Given the description of an element on the screen output the (x, y) to click on. 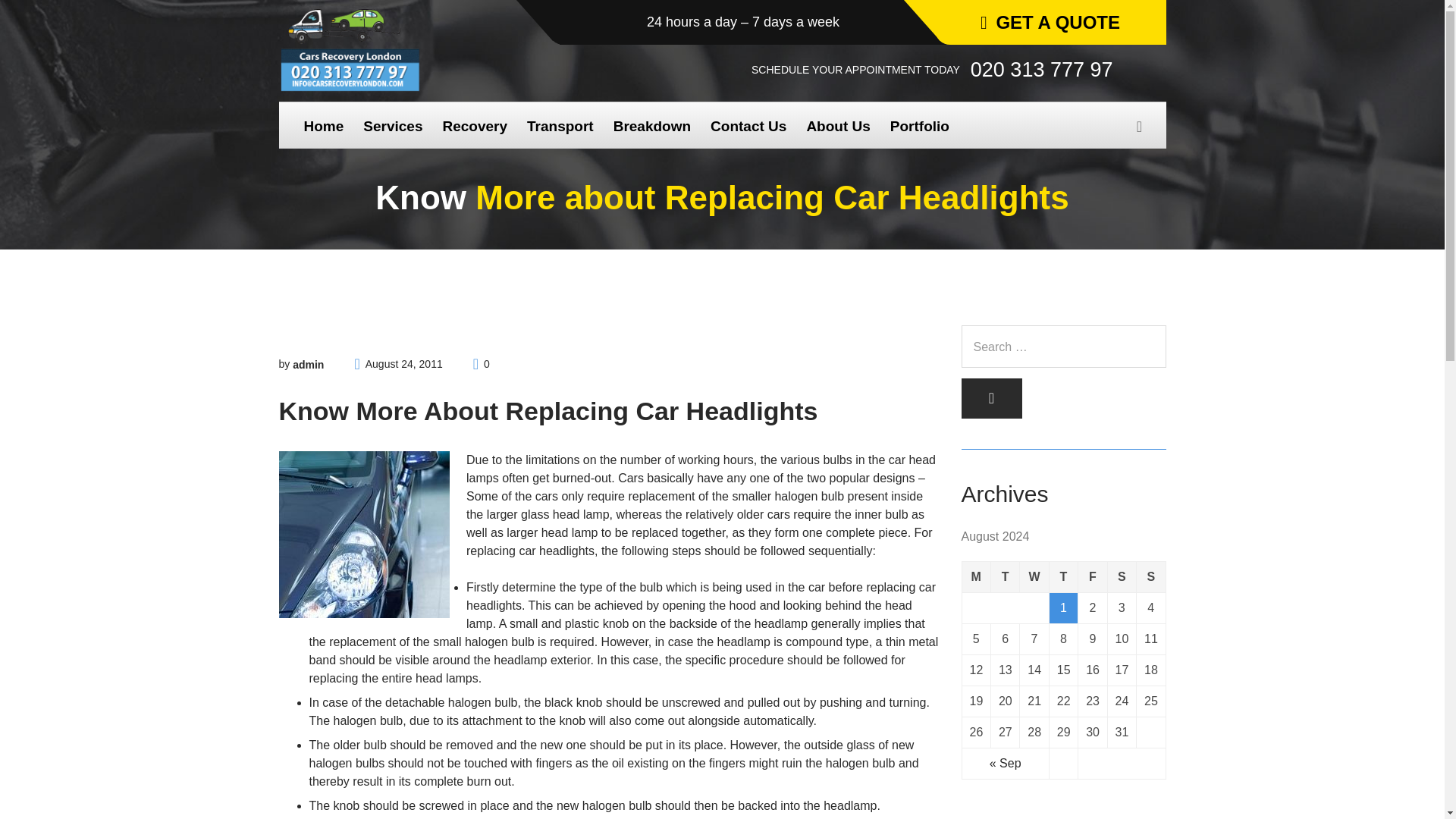
Tuesday (1004, 576)
Saturday (1120, 576)
Contact Us (748, 125)
Recovery (474, 125)
Services (392, 125)
GET A QUOTE (1050, 22)
Breakdown (652, 125)
Friday (1092, 576)
Transport (560, 125)
About Us (837, 125)
Portfolio (919, 125)
Home (323, 125)
August 24, 2011 (403, 363)
Monday (975, 576)
Thursday (1062, 576)
